Given the description of an element on the screen output the (x, y) to click on. 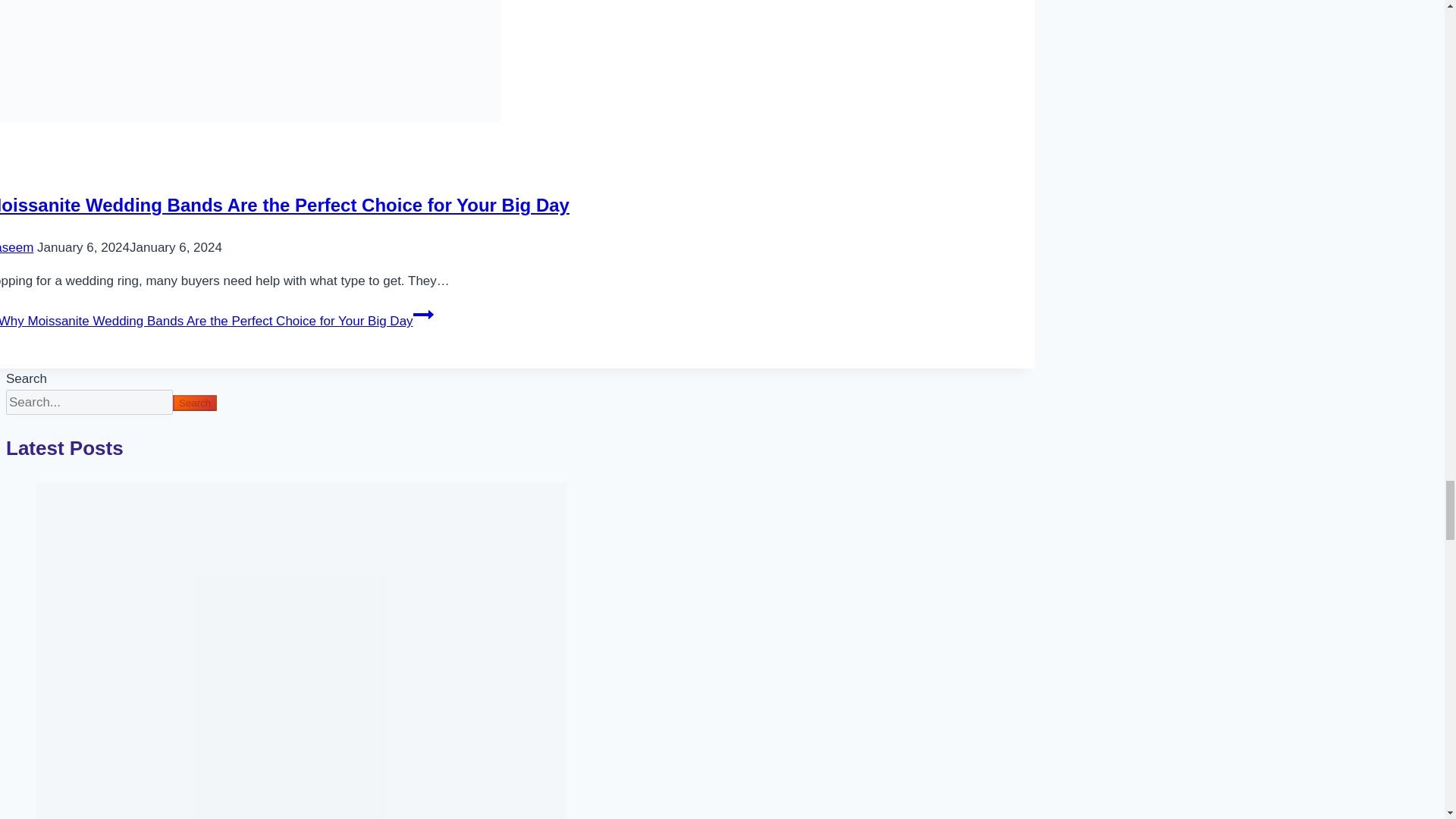
Continue (423, 314)
